Given the description of an element on the screen output the (x, y) to click on. 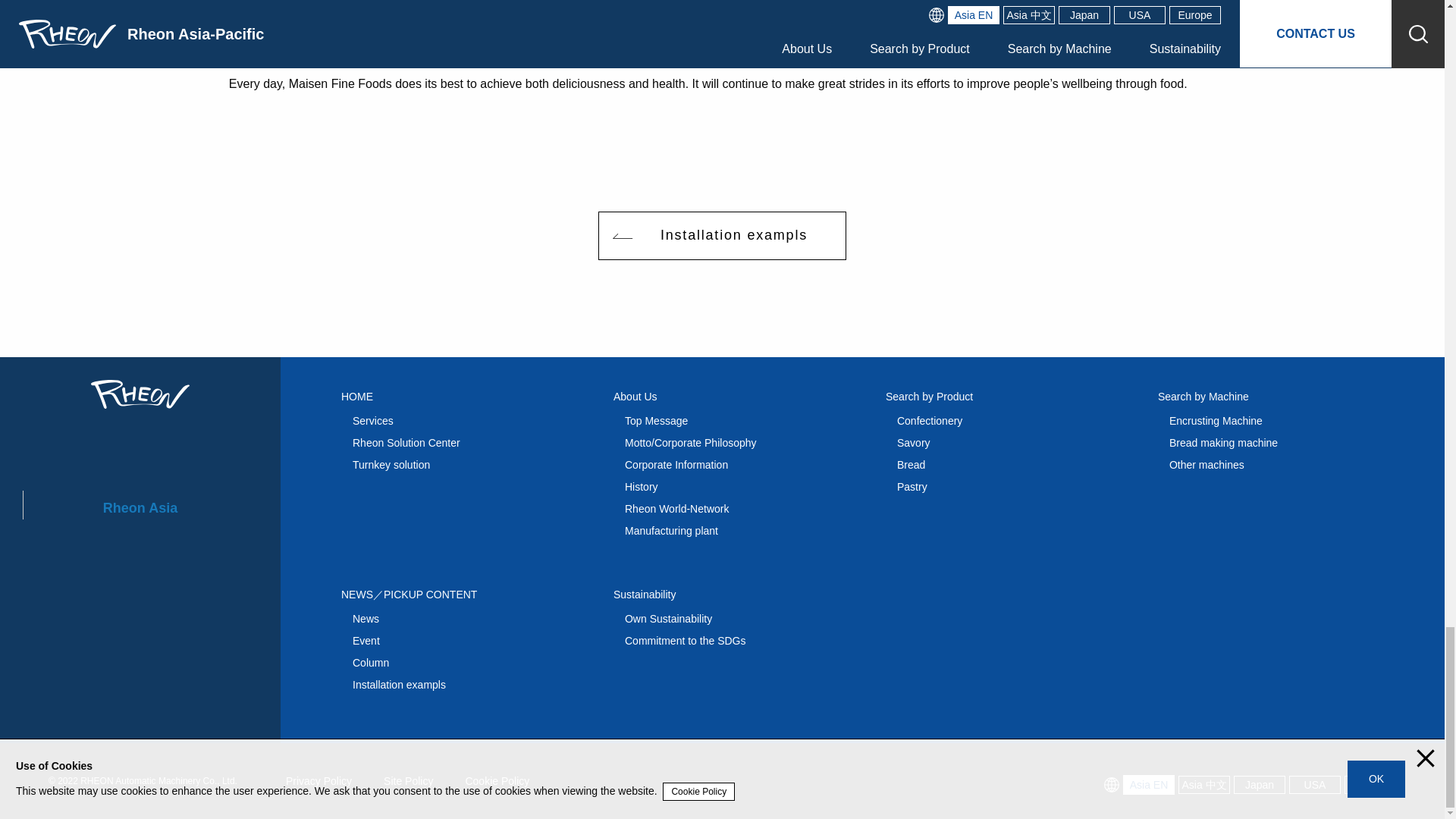
Services (372, 420)
Rheon Asia (140, 507)
HOME (362, 396)
Installation exampls (721, 235)
Rheon Solution Center (406, 442)
